Given the description of an element on the screen output the (x, y) to click on. 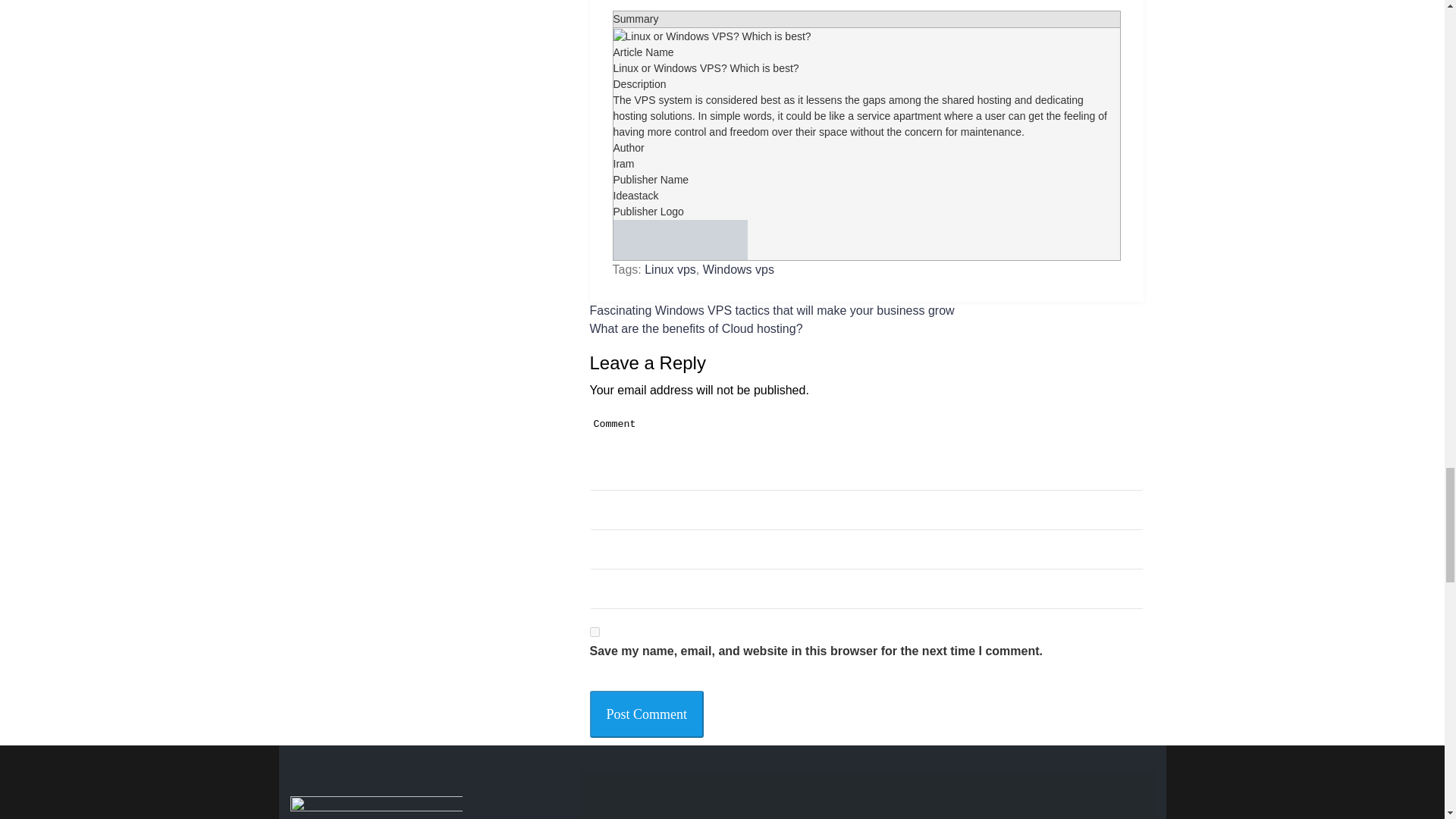
yes (594, 632)
Post Comment (646, 714)
